Given the description of an element on the screen output the (x, y) to click on. 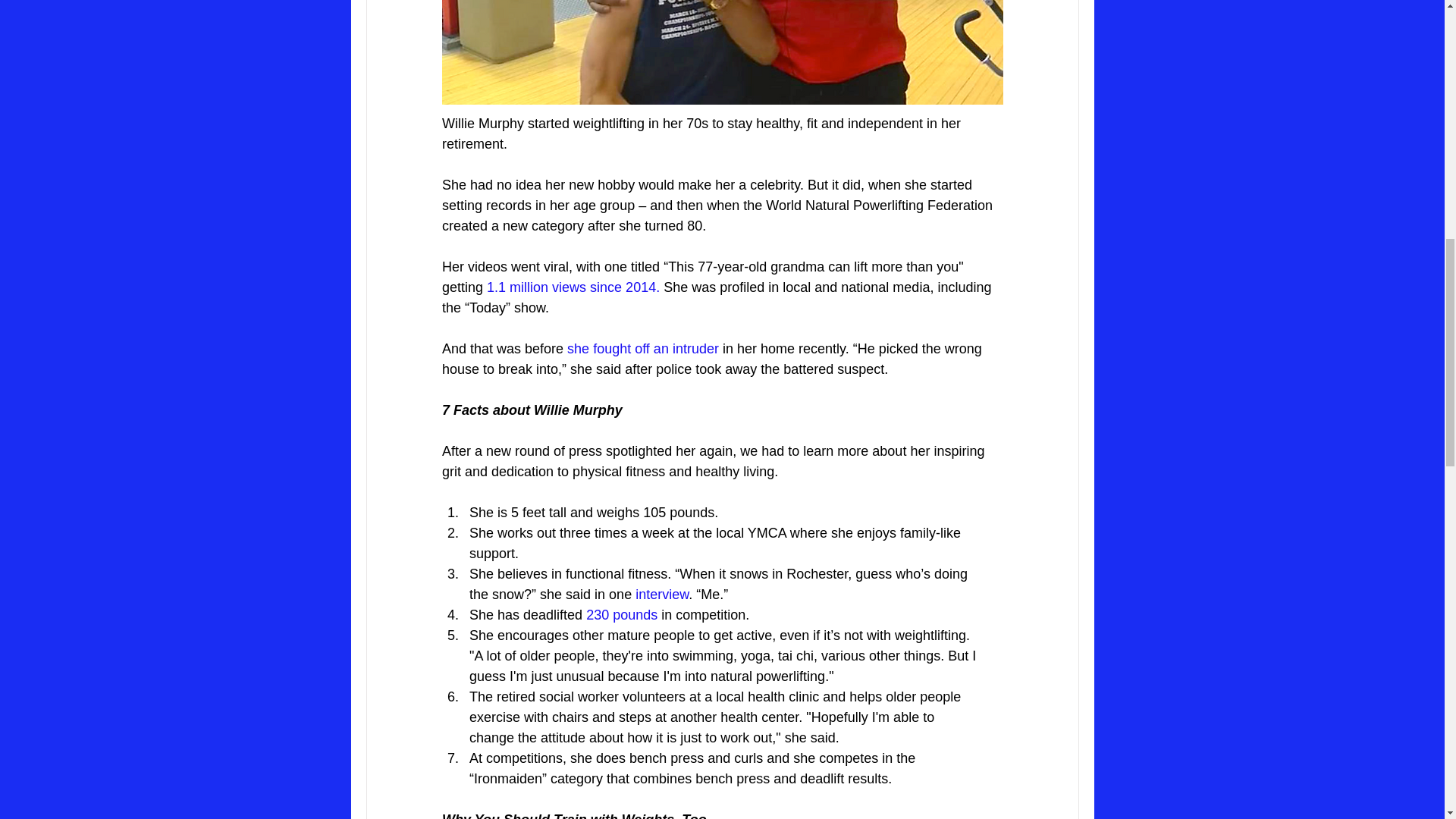
230 pounds (622, 614)
1.1 million views since 2014. (572, 287)
interview (661, 594)
she fought off an intruder (643, 348)
